Given the description of an element on the screen output the (x, y) to click on. 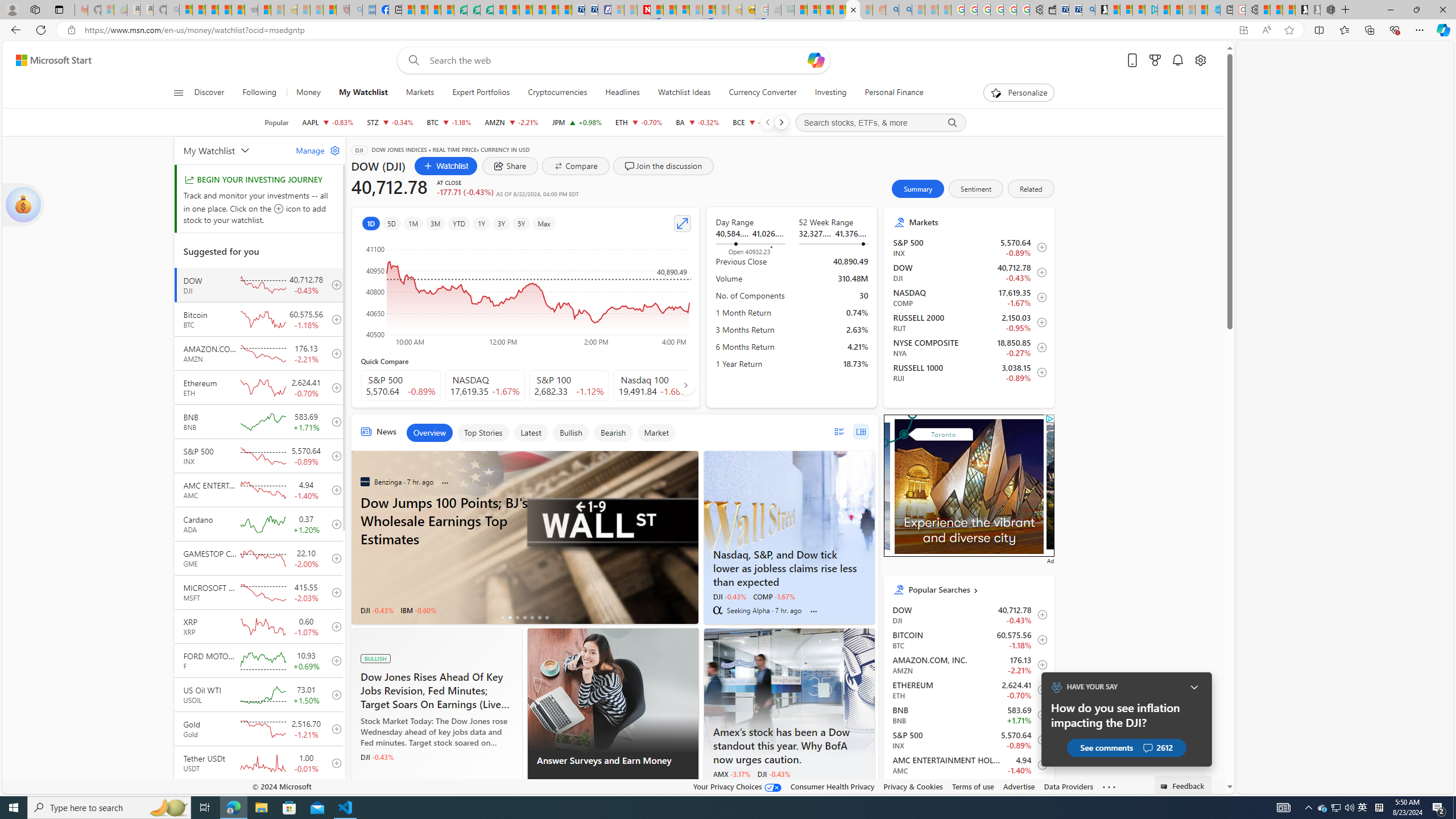
Student Loan Update: Forgiveness Program Ends This Month (839, 9)
Terms of Use Agreement (473, 9)
5D (390, 223)
Add to Watchlist (1039, 790)
DJI -0.43% (773, 773)
IBM -0.60% (418, 610)
